Given the description of an element on the screen output the (x, y) to click on. 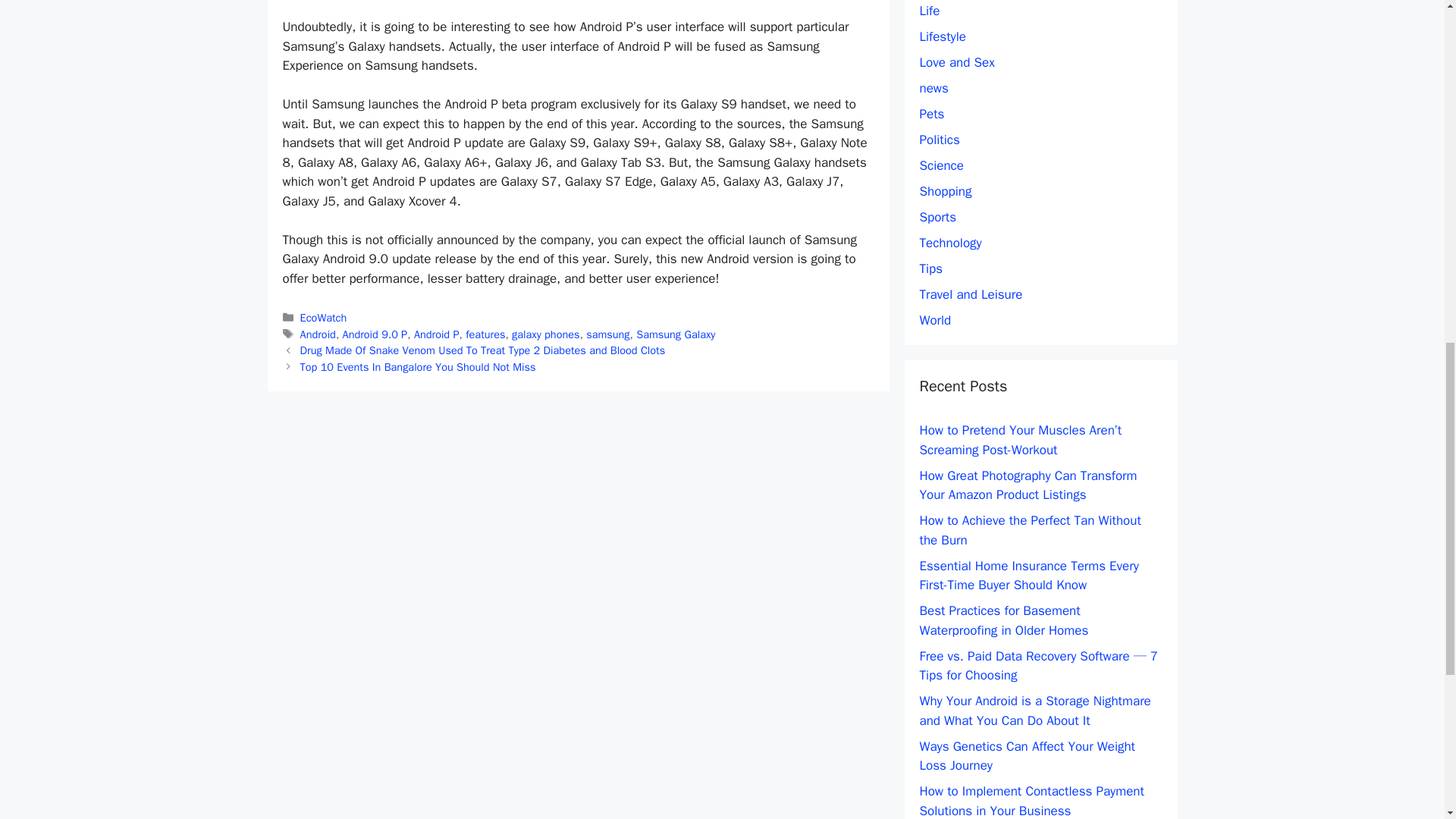
Android (317, 334)
EcoWatch (323, 317)
features (485, 334)
Android 9.0 P (374, 334)
samsung (607, 334)
Top 10 Events In Bangalore You Should Not Miss (417, 366)
Android P (436, 334)
galaxy phones (545, 334)
Samsung Galaxy (675, 334)
